Given the description of an element on the screen output the (x, y) to click on. 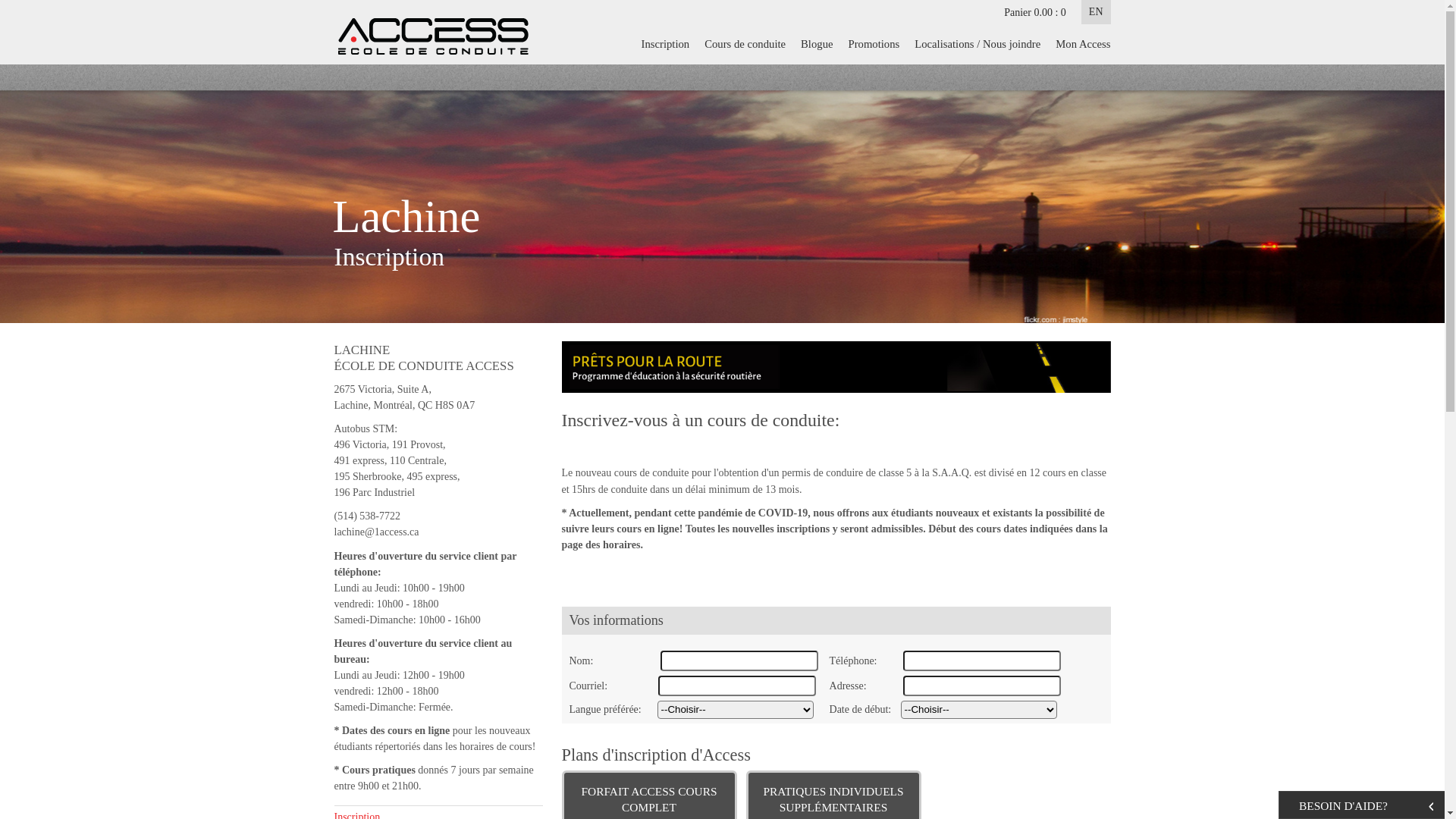
Cours de conduite Element type: text (744, 43)
Mon Access Element type: text (1079, 43)
Lachine Element type: text (406, 223)
Inscription Element type: text (665, 43)
Promotions Element type: text (873, 43)
Localisations / Nous joindre Element type: text (977, 43)
Blogue Element type: text (816, 43)
Panier 0.00 : 0 Element type: text (1035, 12)
